Given the description of an element on the screen output the (x, y) to click on. 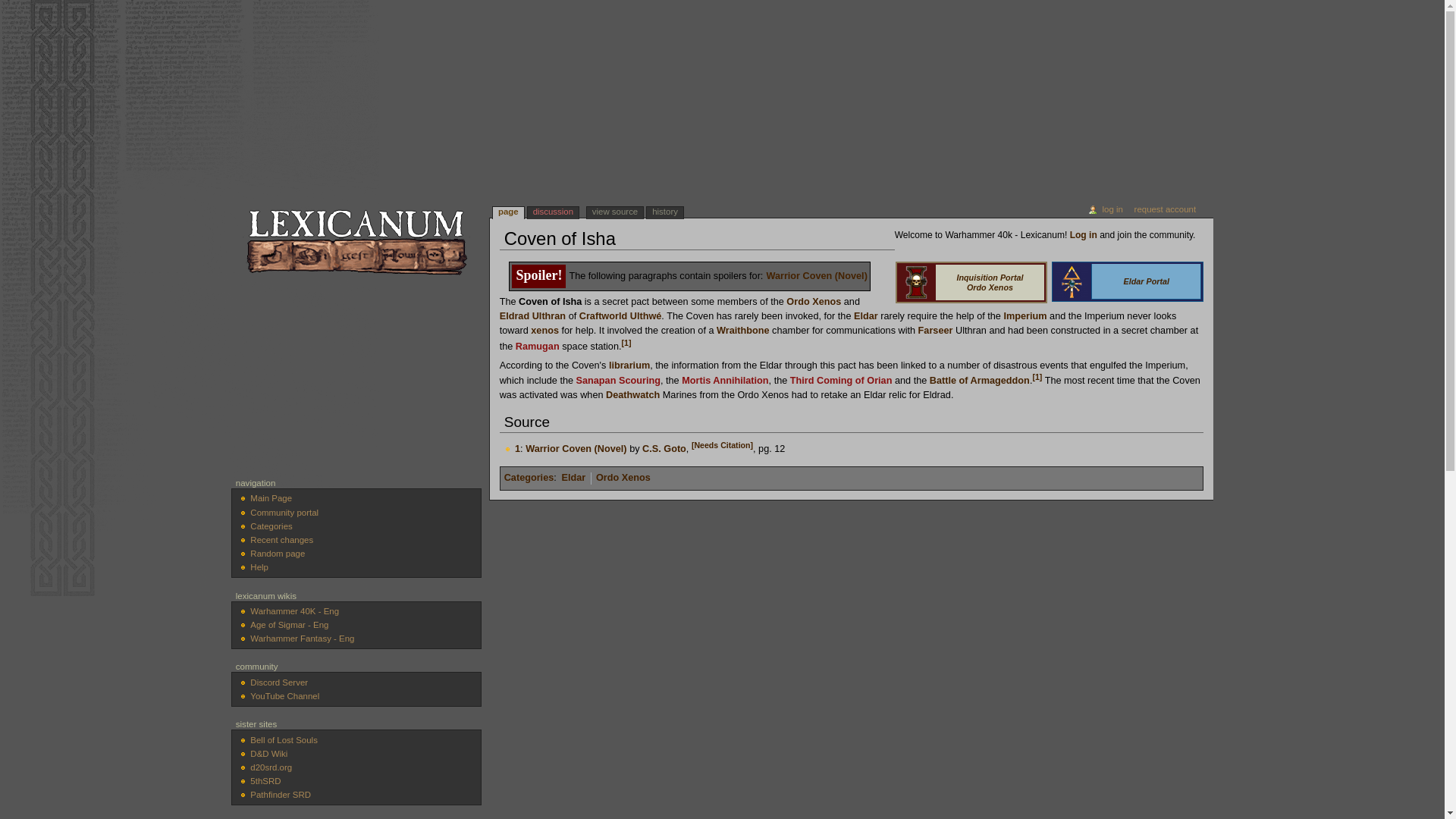
Ordo Xenos (622, 477)
Deathwatch (632, 394)
Xenos (545, 330)
Categories (528, 477)
Ordo Xenos (813, 301)
discussion (552, 212)
Ramugan (537, 346)
Eldar (865, 316)
Wraithbone (743, 330)
C.S. Goto (663, 448)
